Given the description of an element on the screen output the (x, y) to click on. 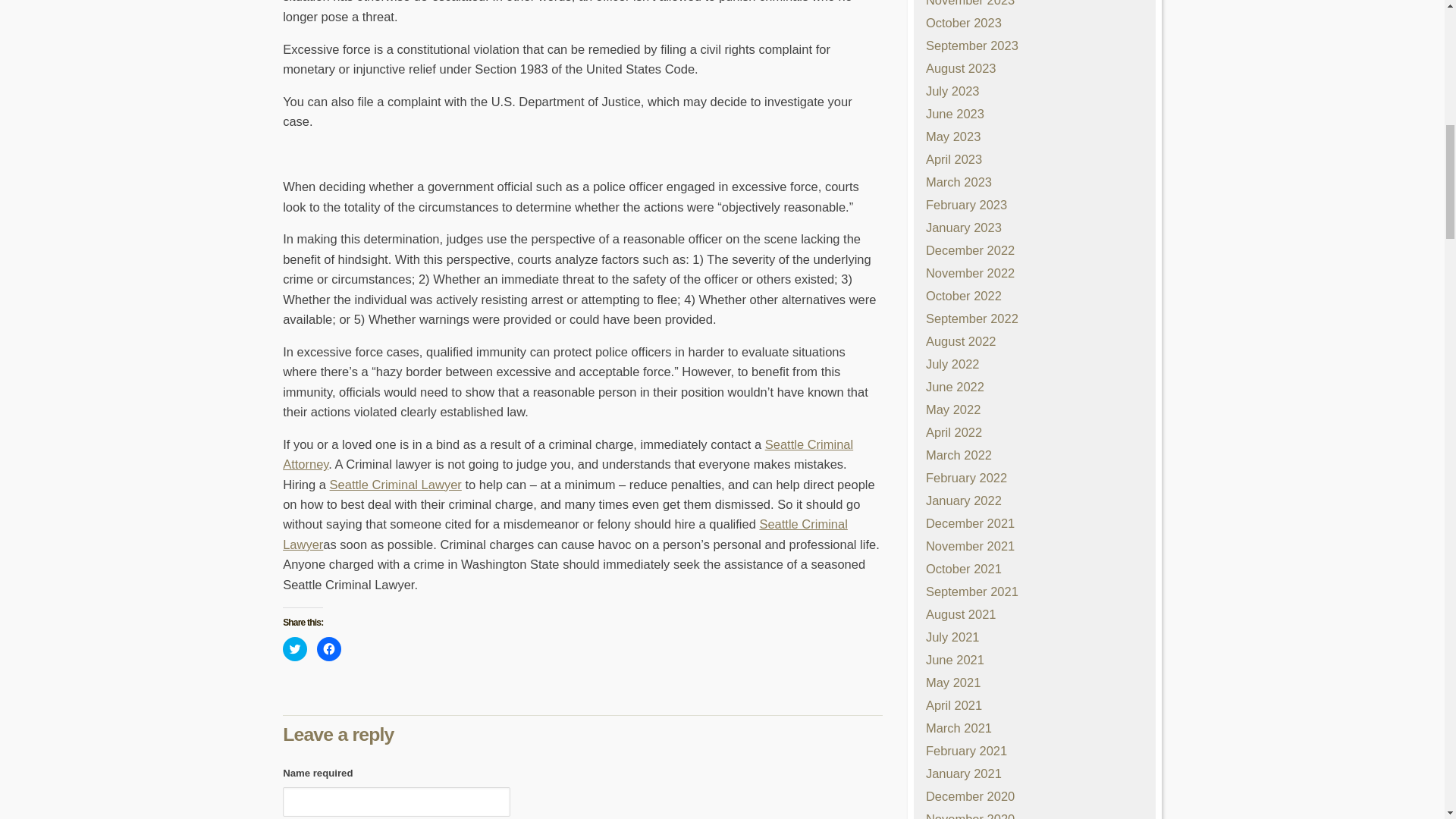
Click to share on Twitter (294, 648)
Click to share on Facebook (328, 648)
